Given the description of an element on the screen output the (x, y) to click on. 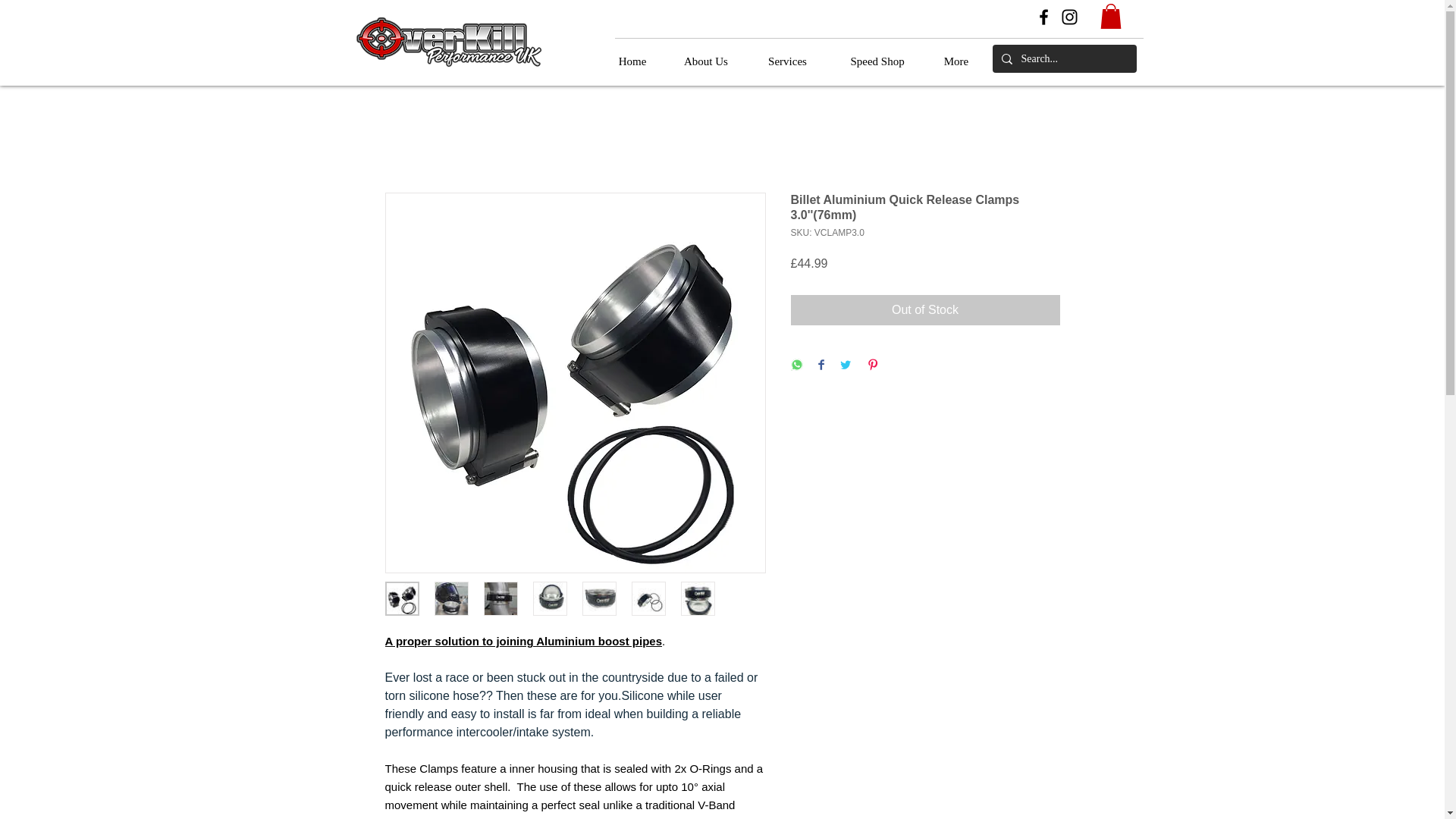
Out of Stock (924, 309)
Services (788, 61)
Home (632, 61)
About Us (704, 61)
Speed Shop (877, 61)
